Given the description of an element on the screen output the (x, y) to click on. 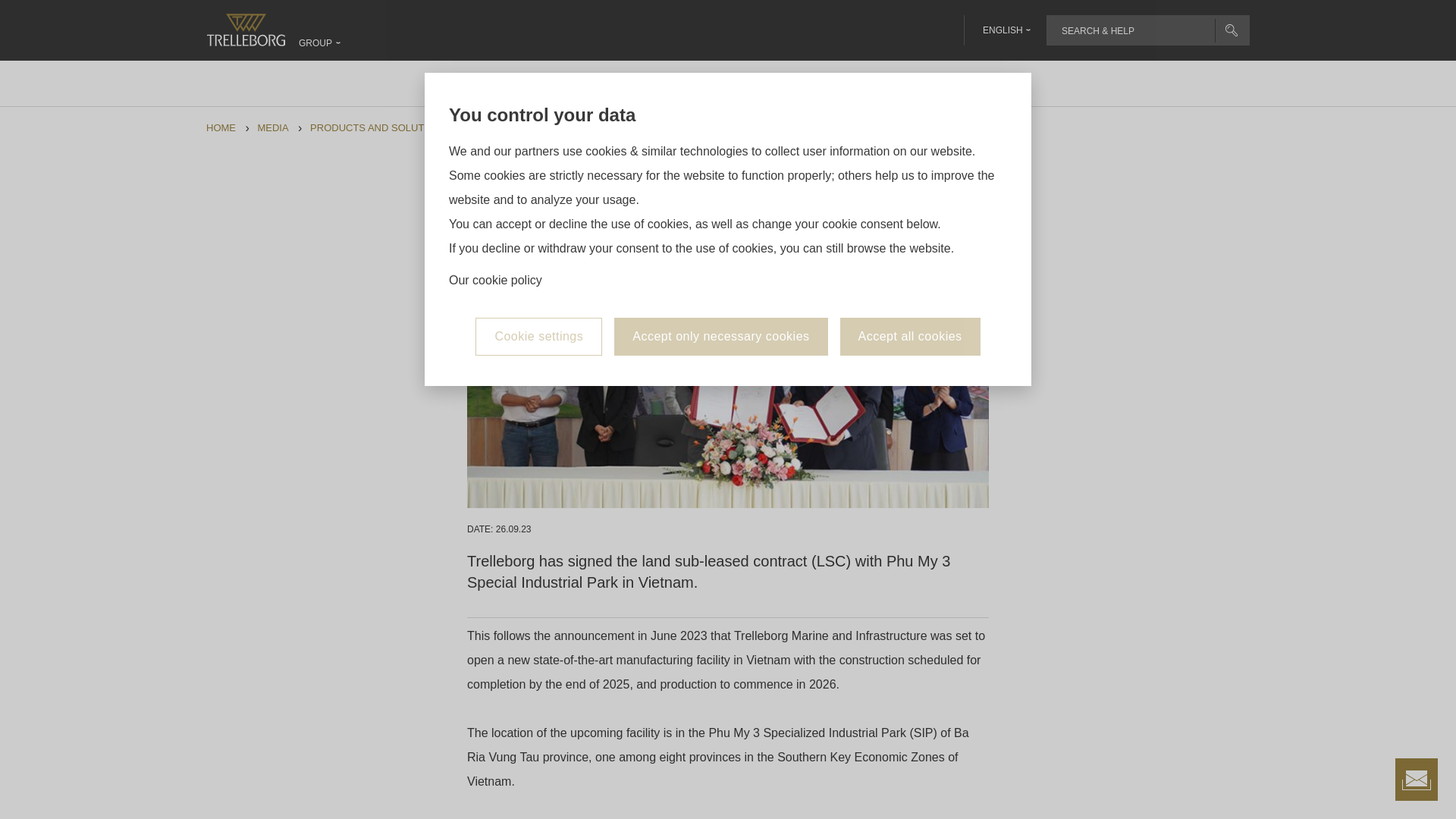
Accept only necessary cookies (720, 336)
Accept all cookies (909, 336)
Our cookie policy (494, 280)
Cookie settings (539, 336)
